Given the description of an element on the screen output the (x, y) to click on. 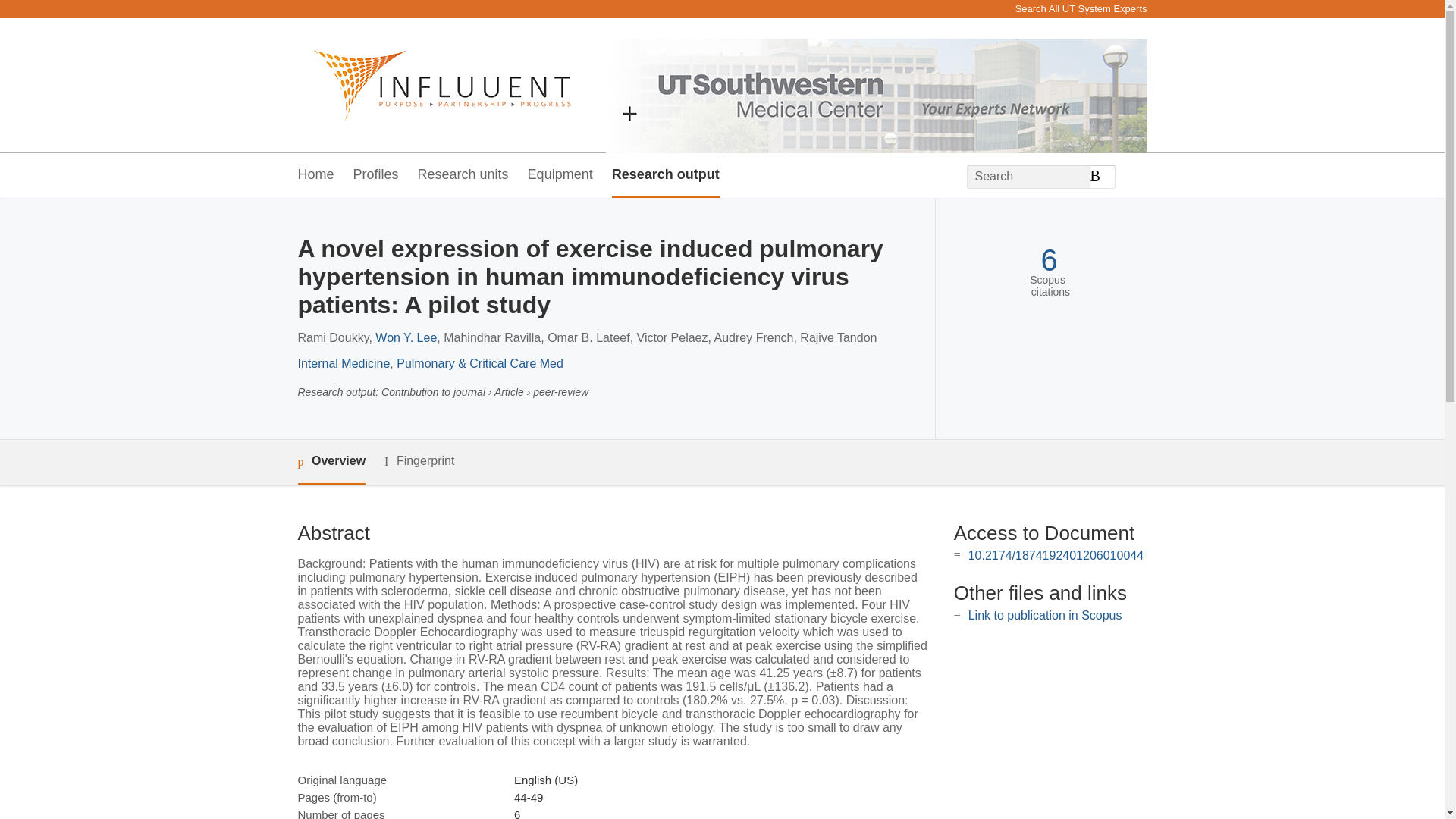
Link to publication in Scopus (1045, 615)
Won Y. Lee (405, 337)
University of Texas Southwestern Medical Center Home (434, 85)
Profiles (375, 175)
Research output (665, 175)
Internal Medicine (343, 363)
Equipment (559, 175)
Research units (462, 175)
Fingerprint (419, 461)
Overview (331, 461)
